Given the description of an element on the screen output the (x, y) to click on. 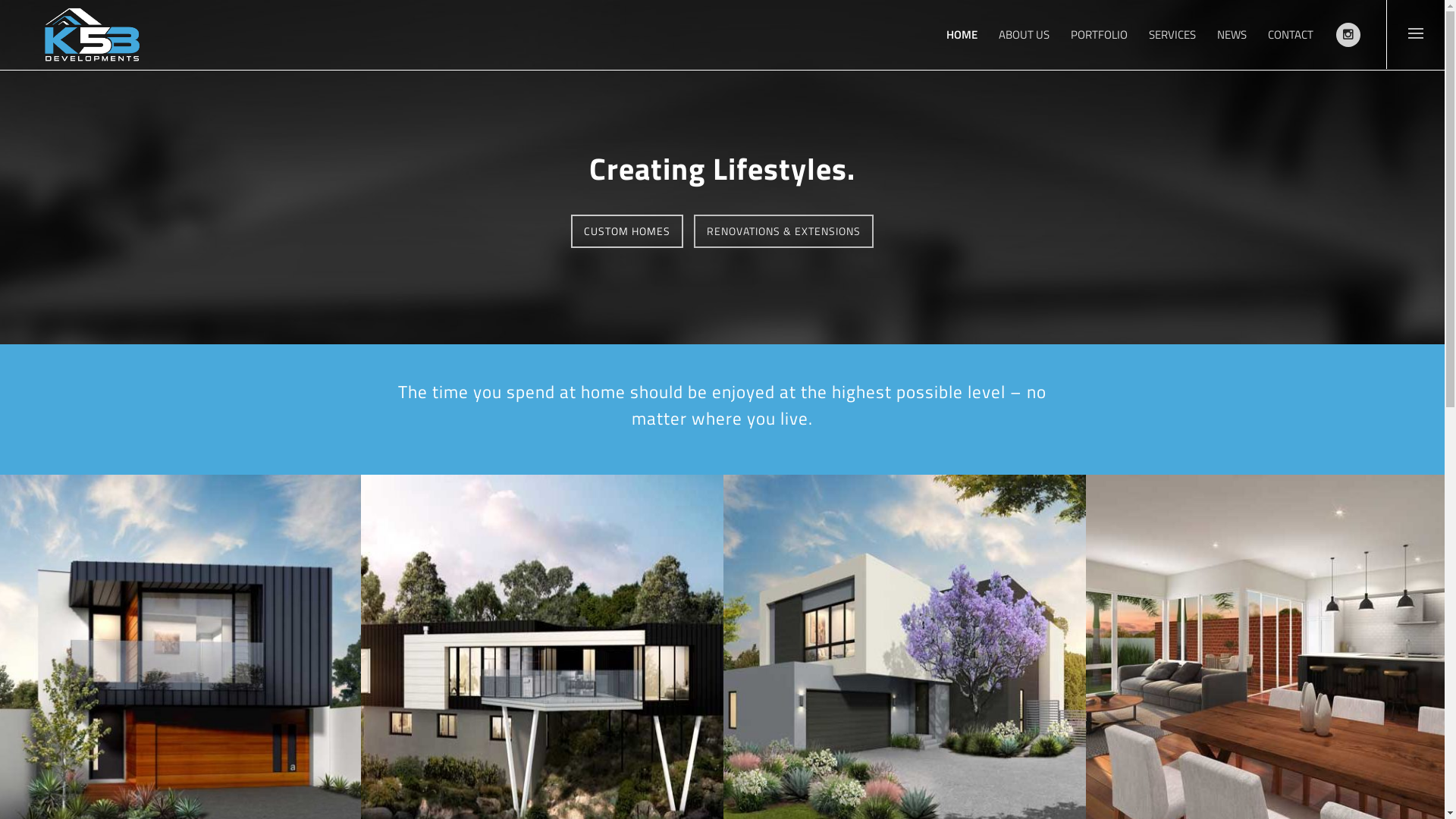
SERVICES Element type: text (1172, 34)
PORTFOLIO Element type: text (1098, 34)
ABOUT US Element type: text (1023, 34)
HOME Element type: text (961, 34)
CONTACT Element type: text (1290, 34)
CUSTOM HOMES Element type: text (627, 230)
RENOVATIONS & EXTENSIONS Element type: text (783, 230)
NEWS Element type: text (1231, 34)
